Given the description of an element on the screen output the (x, y) to click on. 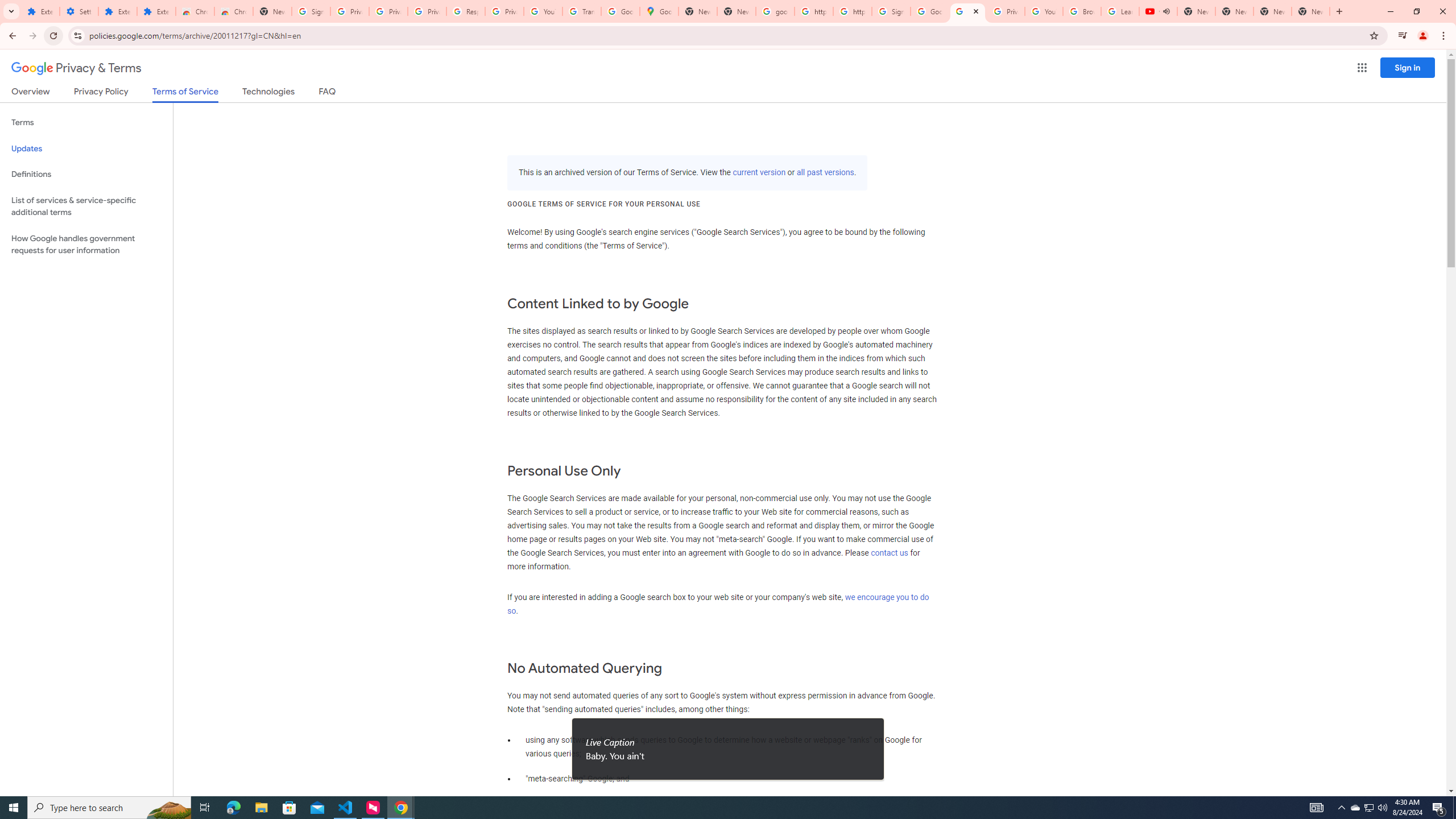
Sign in - Google Accounts (310, 11)
How Google handles government requests for user information (86, 244)
Chrome Web Store - Themes (233, 11)
Extensions (156, 11)
New Tab (1311, 11)
YouTube (1043, 11)
current version (759, 172)
